Given the description of an element on the screen output the (x, y) to click on. 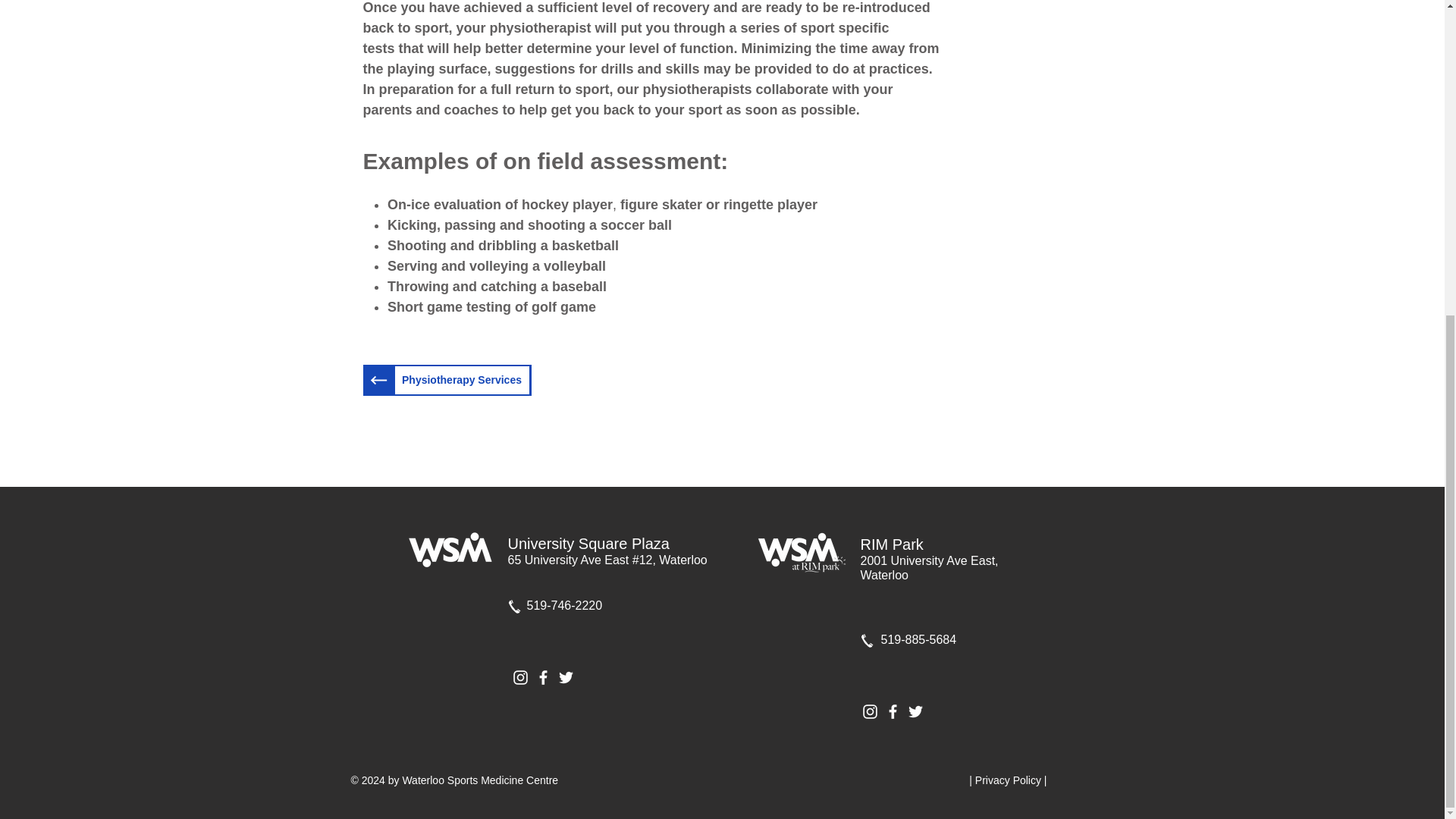
RIM Park (891, 544)
519-746-2220 (563, 604)
University Square Plaza (588, 543)
Physiotherapy Services (461, 379)
